Given the description of an element on the screen output the (x, y) to click on. 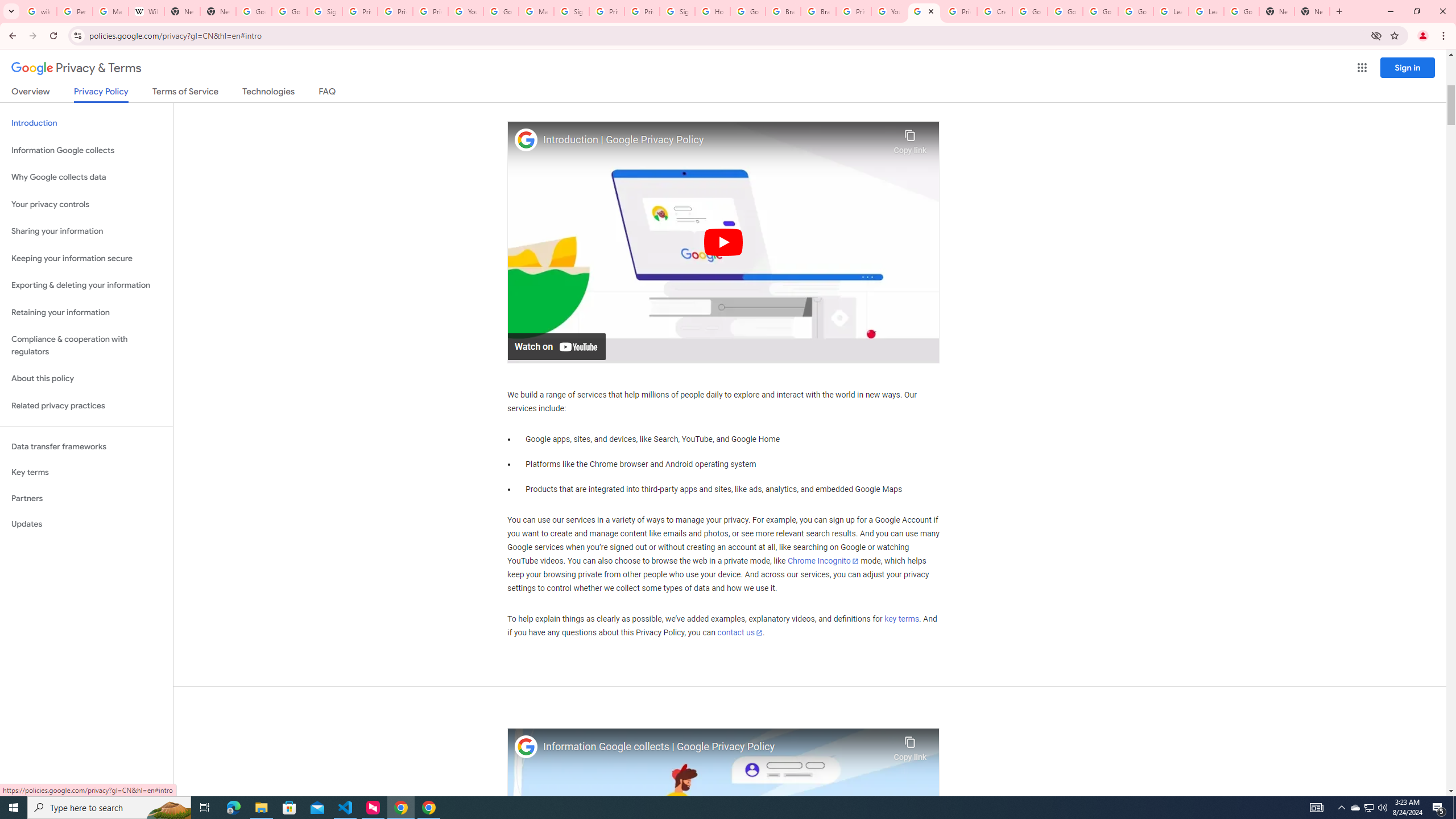
Google Account Help (1135, 11)
Chrome Incognito (823, 561)
Copy link (909, 745)
Information Google collects (86, 150)
Brand Resource Center (783, 11)
Google Account Help (1099, 11)
YouTube (888, 11)
New Tab (218, 11)
Key terms (86, 472)
